Given the description of an element on the screen output the (x, y) to click on. 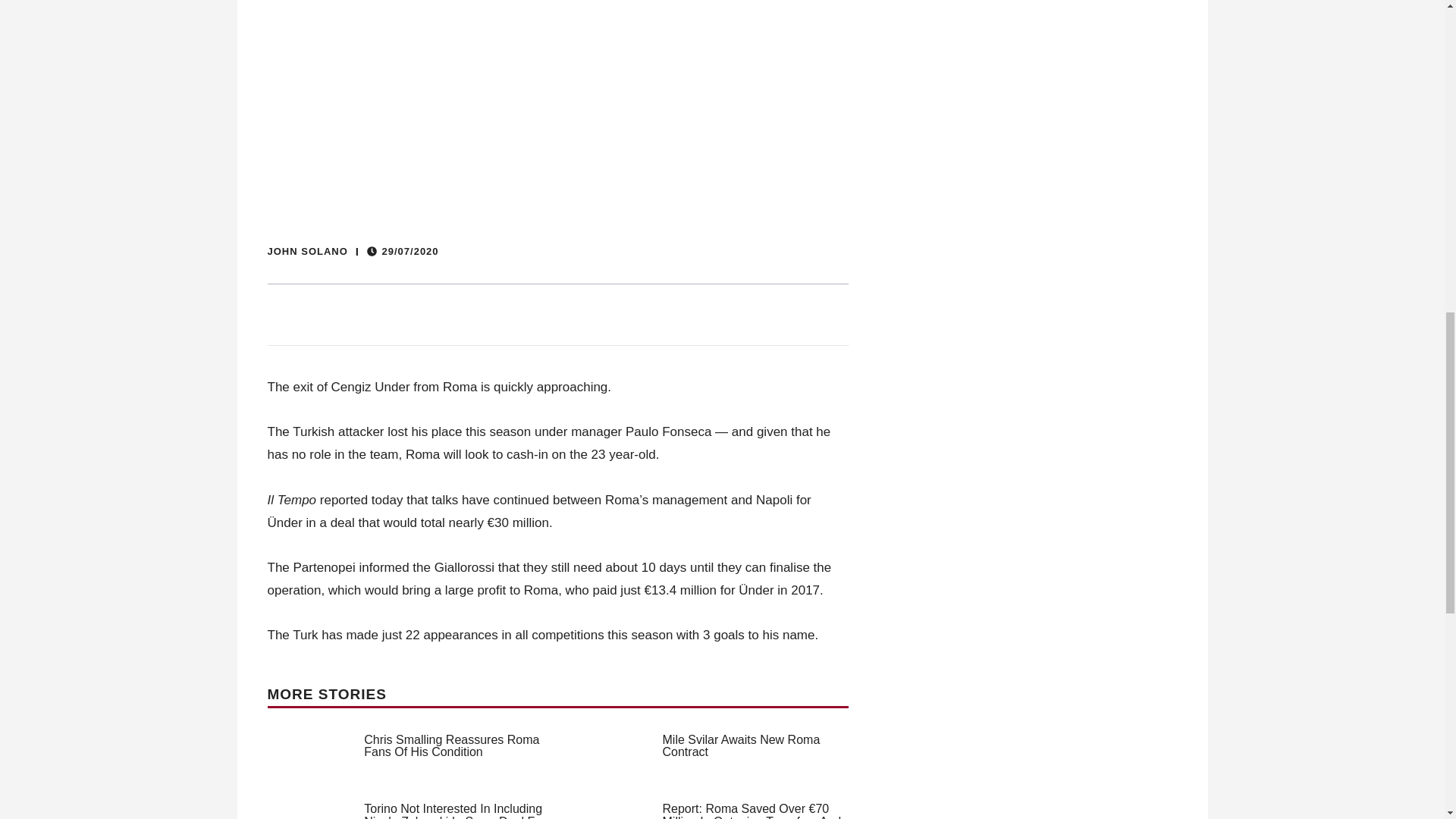
Chris Smalling Reassures Roma Fans Of His Condition (451, 746)
Mile Svilar Awaits New Roma Contract (741, 746)
